Given the description of an element on the screen output the (x, y) to click on. 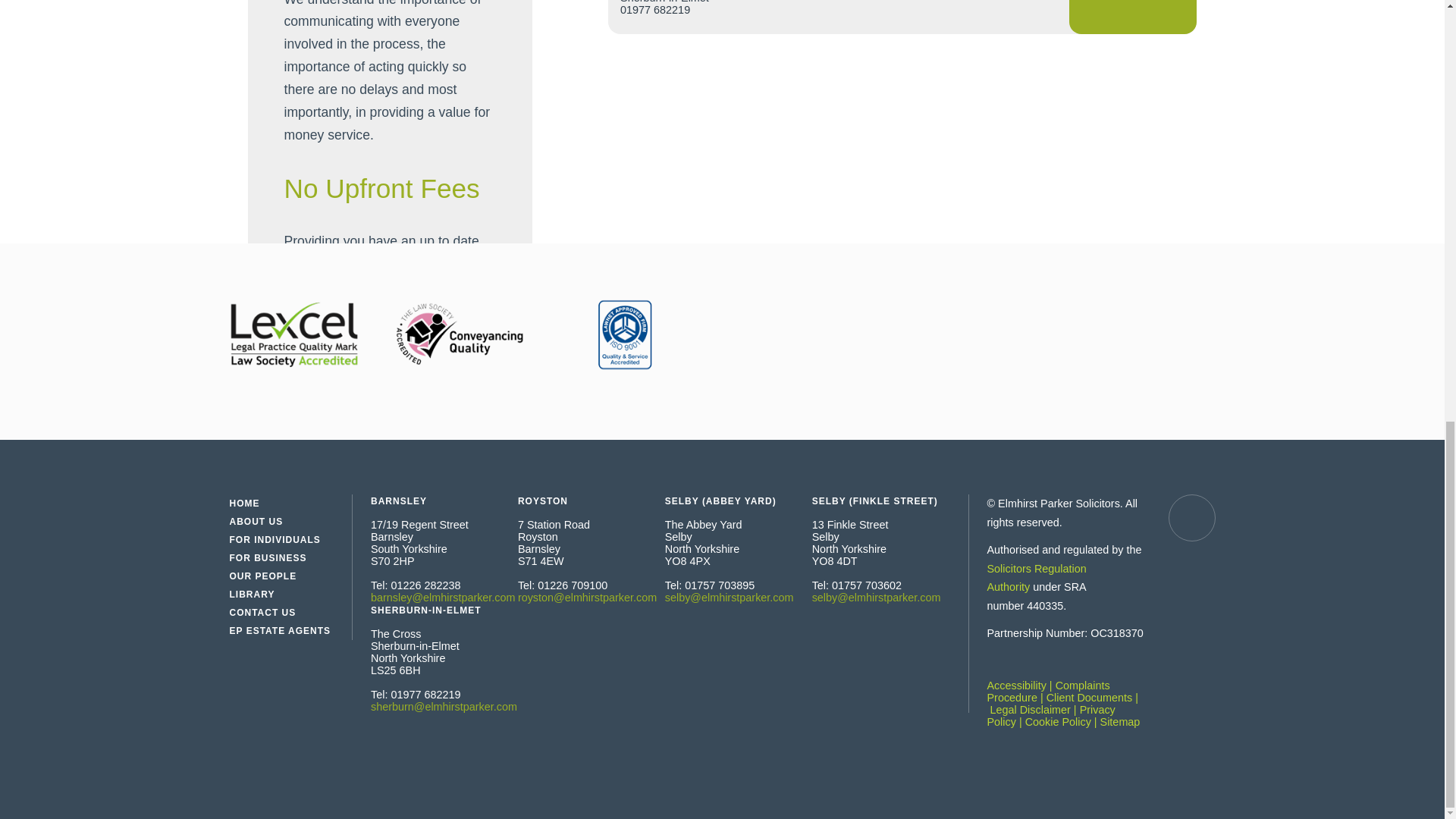
Lawnet Logo (623, 334)
Lexel Logo (293, 334)
CQ Logo (458, 334)
